Given the description of an element on the screen output the (x, y) to click on. 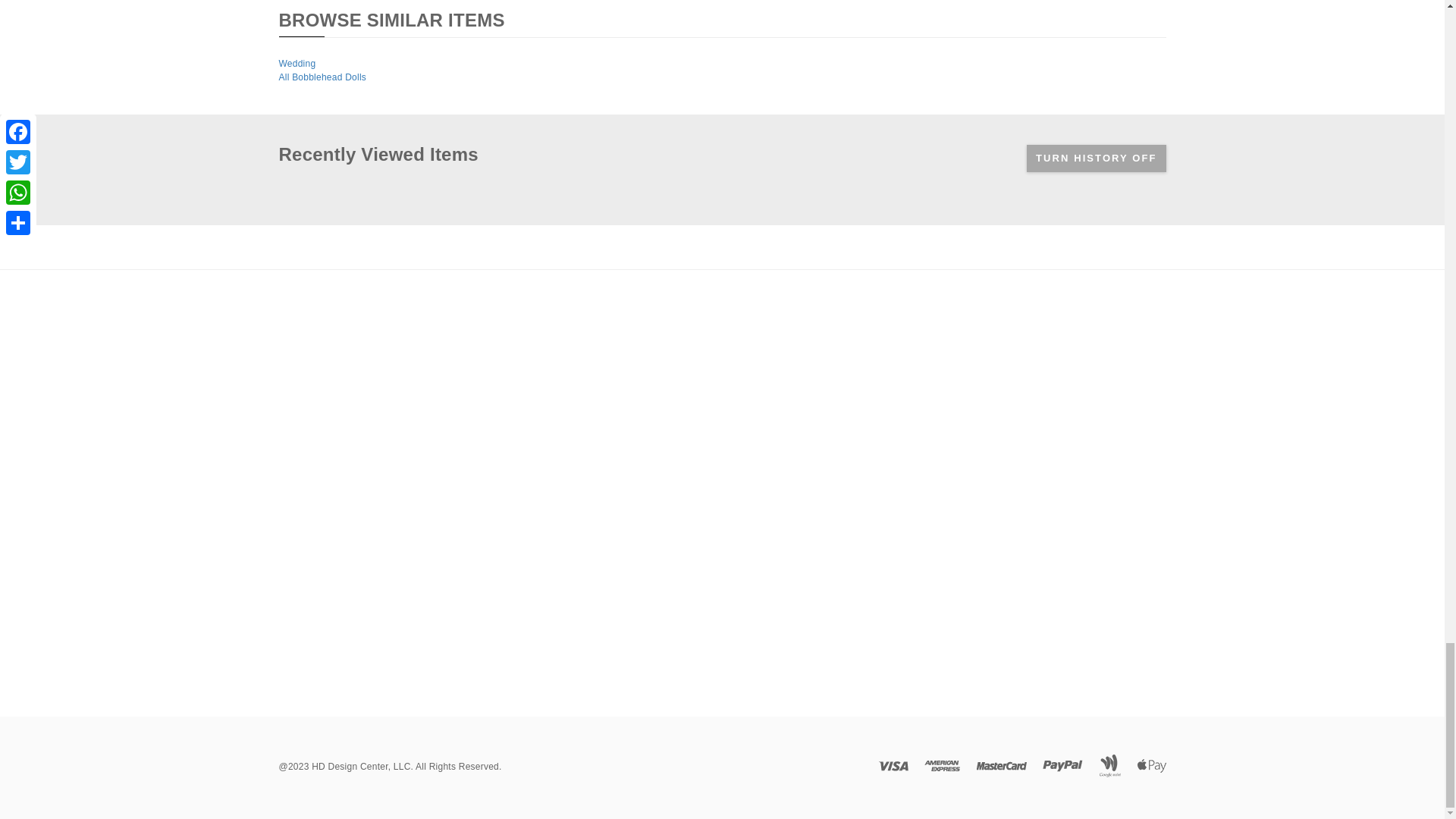
Visa (893, 765)
Master Card (1001, 765)
American Express (941, 765)
Paypal (1062, 765)
Google Wallet (1110, 765)
